Given the description of an element on the screen output the (x, y) to click on. 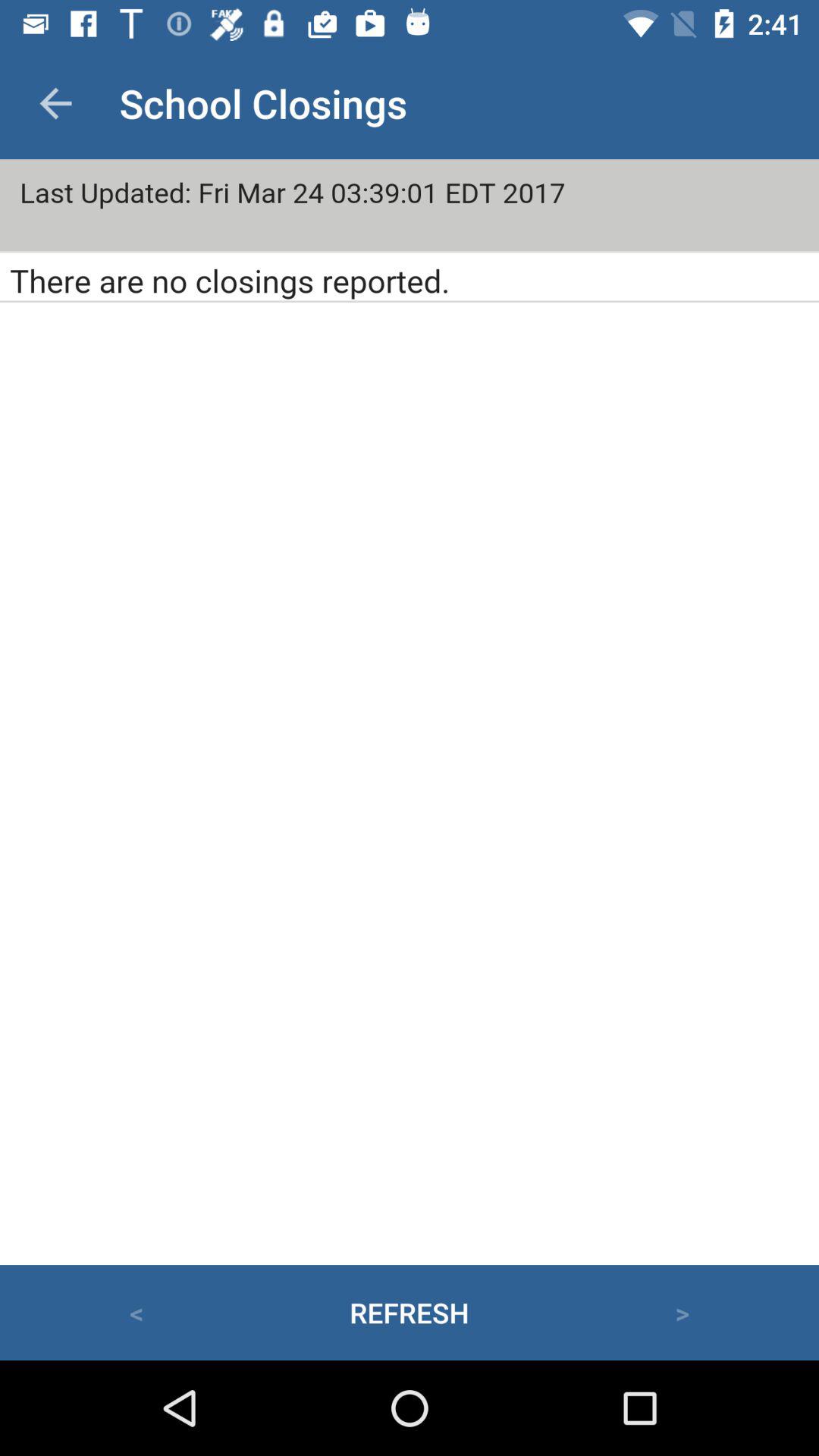
principal screen (409, 711)
